Given the description of an element on the screen output the (x, y) to click on. 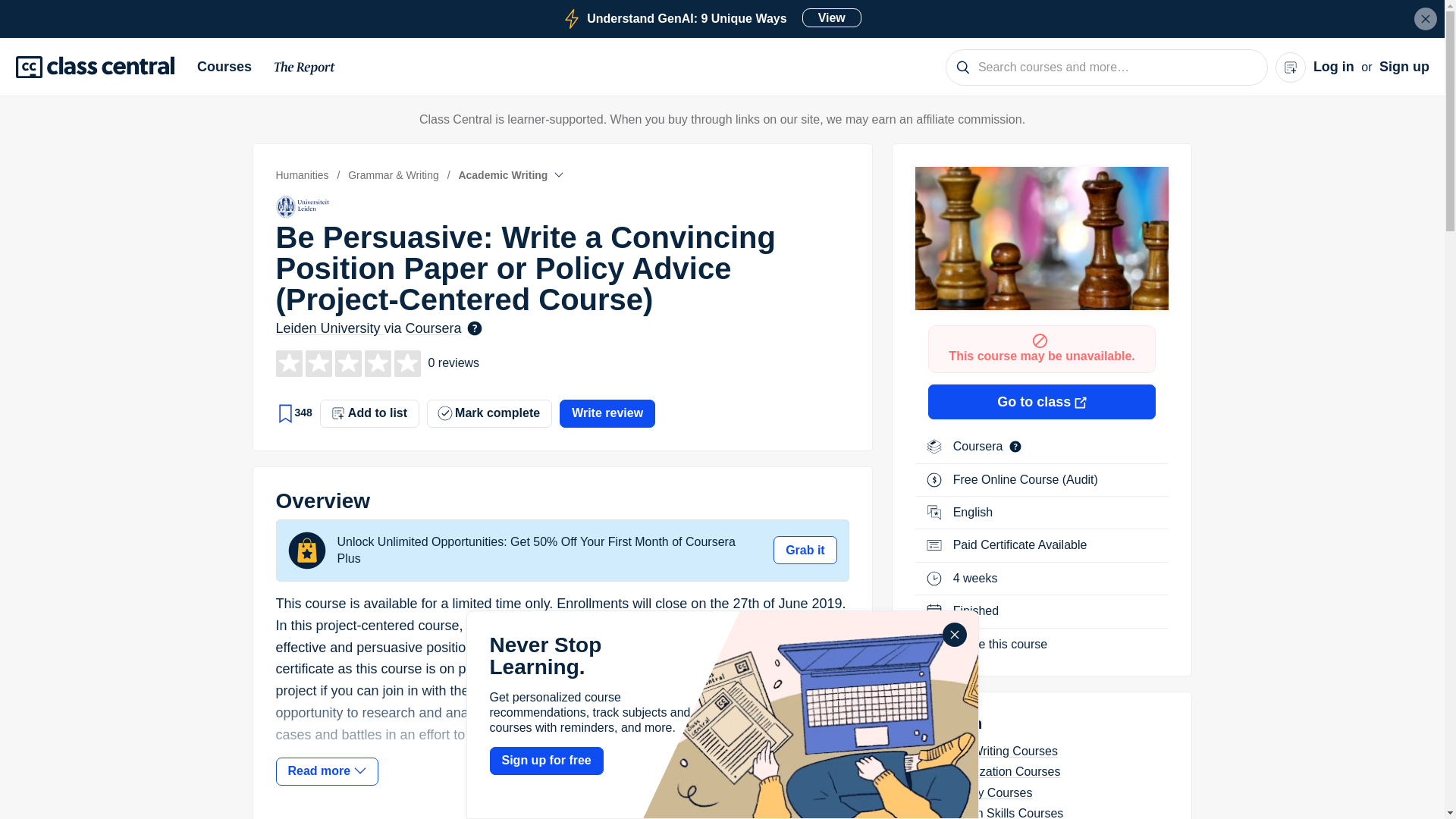
Courses (710, 18)
List of Coursera MOOCs (229, 66)
The Report (979, 445)
Close (304, 69)
